Given the description of an element on the screen output the (x, y) to click on. 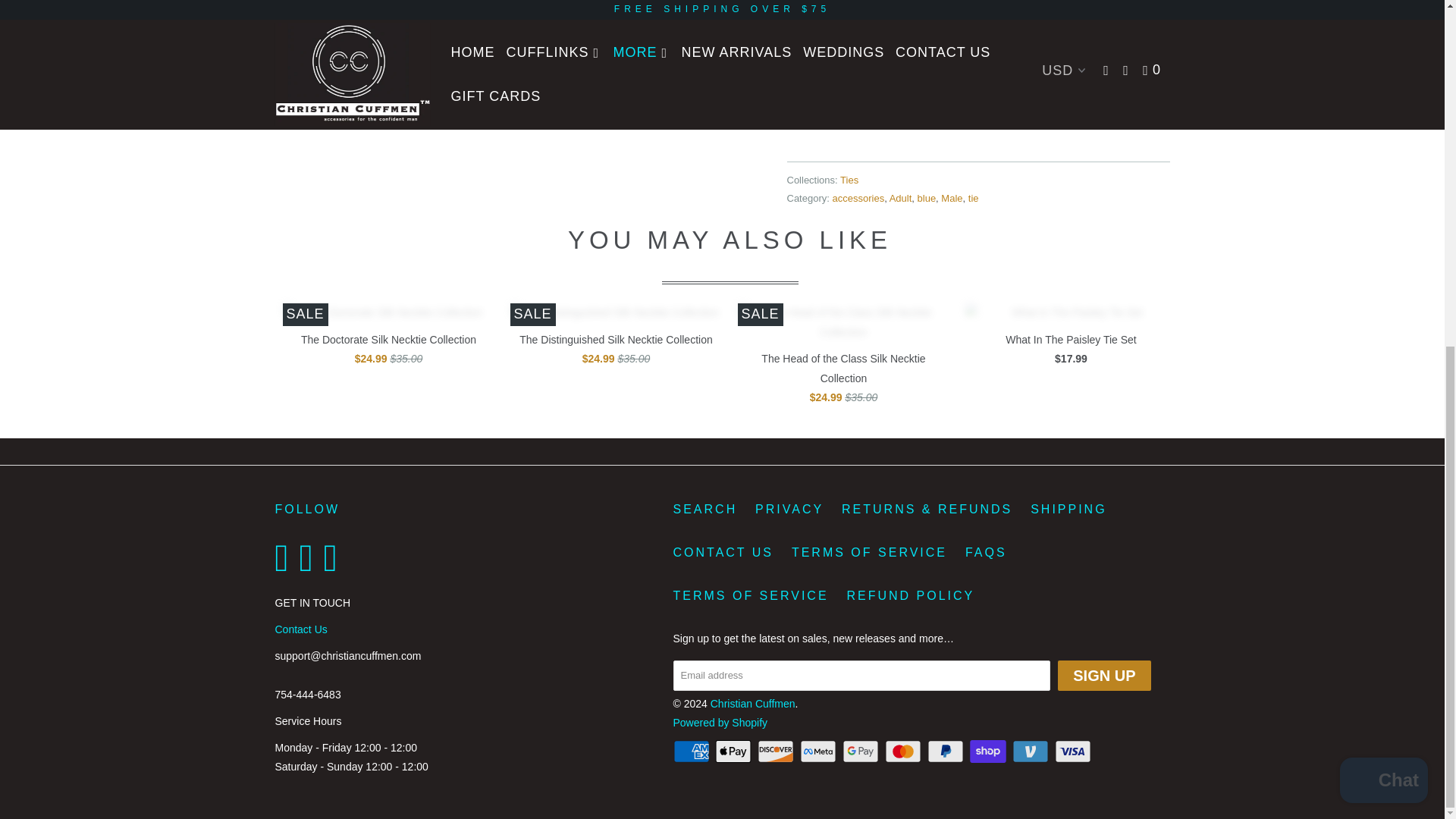
PayPal (946, 751)
Shop Pay (989, 751)
Products tagged accessories (858, 197)
Ties (849, 179)
American Express (692, 751)
Mastercard (904, 751)
Venmo (1031, 751)
Products tagged Adult (900, 197)
Apple Pay (734, 751)
Google Pay (862, 751)
